Given the description of an element on the screen output the (x, y) to click on. 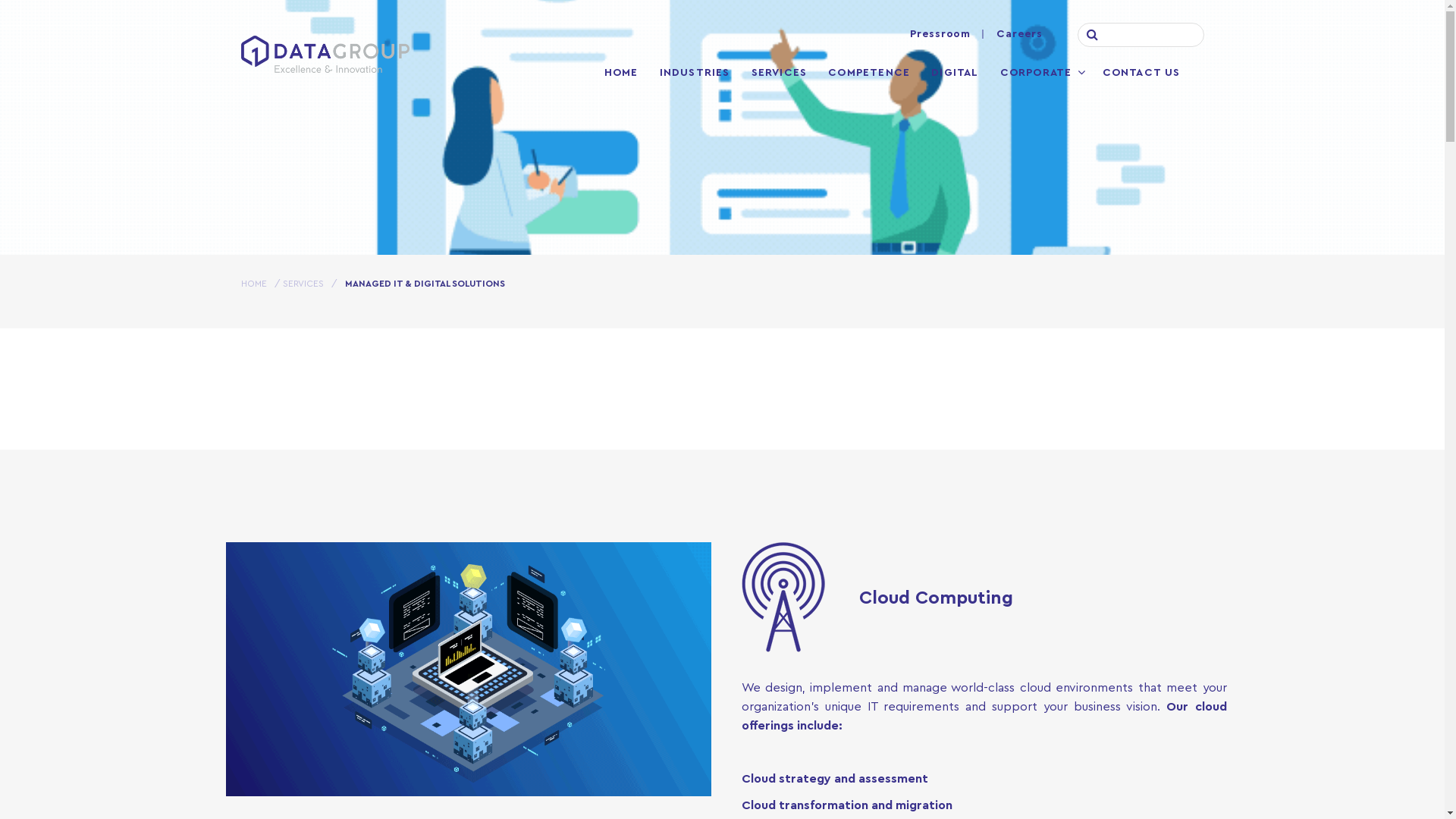
CORPORATE Element type: text (1036, 73)
SERVICES Element type: text (302, 283)
DIGITAL Element type: text (954, 73)
Pressroom Element type: text (942, 34)
HOME Element type: text (621, 73)
INDUSTRIES Element type: text (694, 73)
COMPETENCE Element type: text (869, 73)
Careers Element type: text (1018, 34)
HOME Element type: text (253, 283)
CONTACT US Element type: text (1141, 73)
SERVICES Element type: text (779, 73)
